Given the description of an element on the screen output the (x, y) to click on. 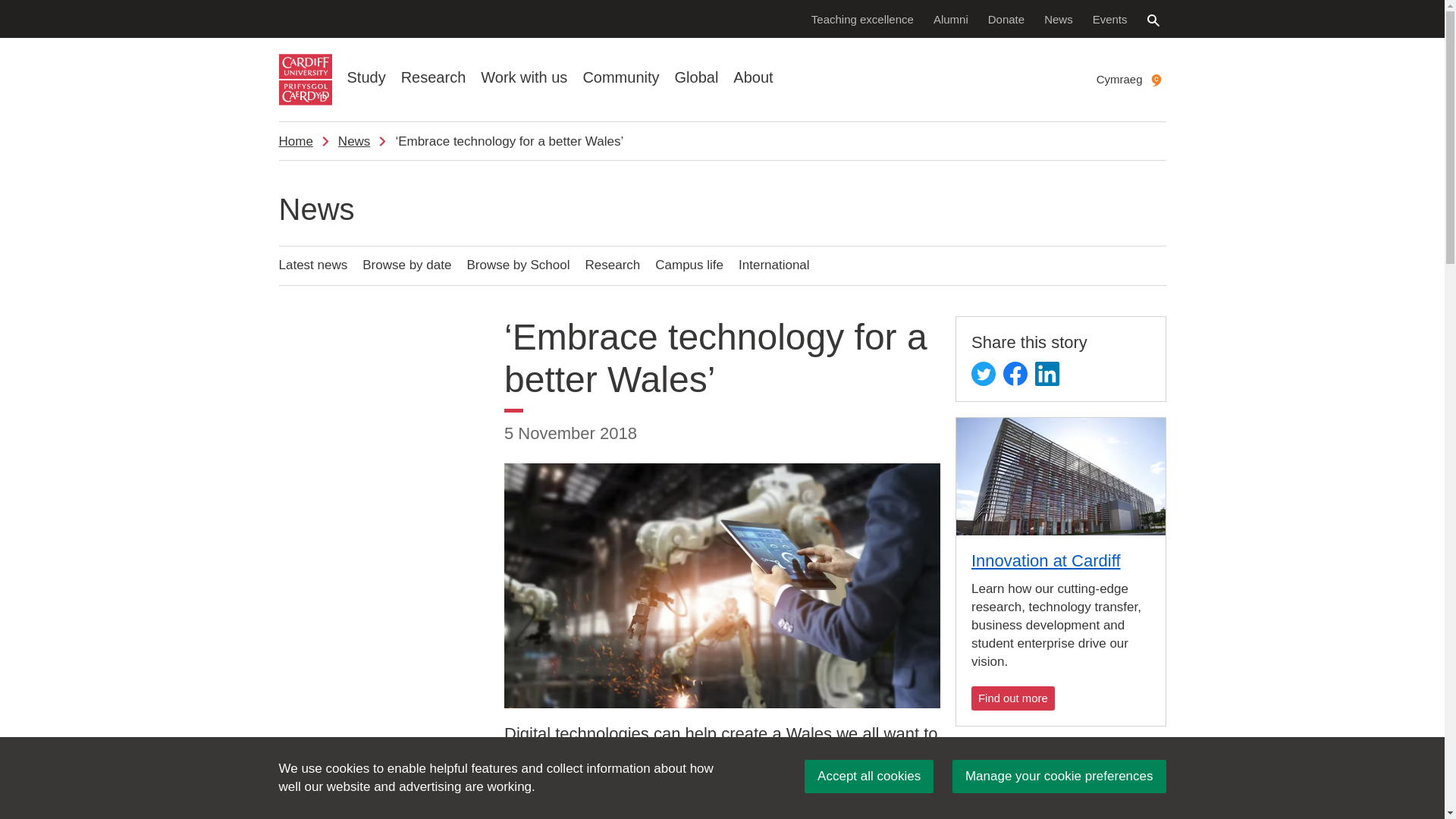
Manage your cookie preferences (1059, 776)
Cardiff University logo (305, 79)
Events (1109, 19)
cymraeg (1155, 80)
Search (1152, 20)
Donate (1005, 19)
Twitter (983, 373)
Alumni (951, 19)
News (1058, 19)
Teaching excellence (862, 19)
